Given the description of an element on the screen output the (x, y) to click on. 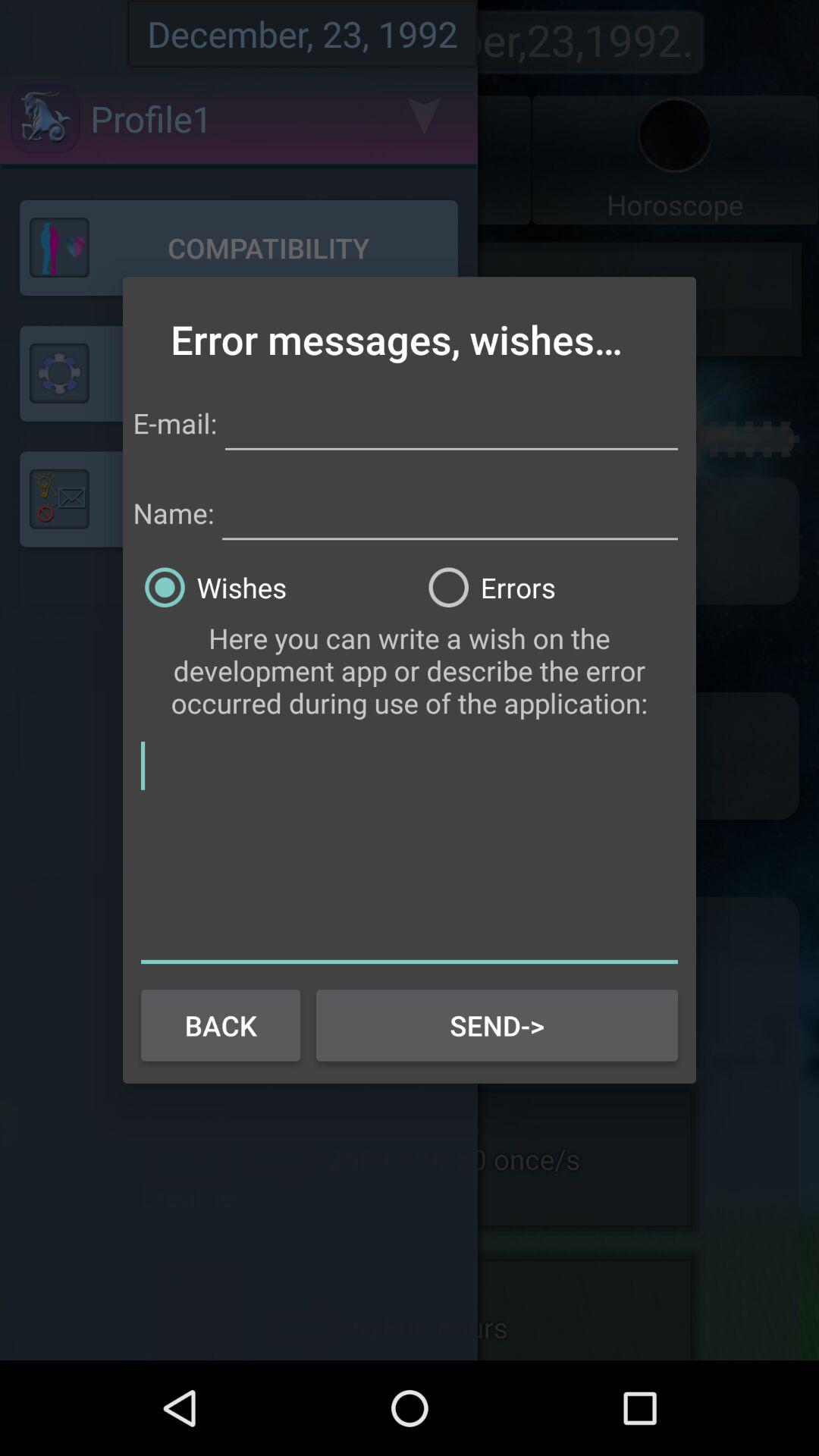
jump until the back item (220, 1025)
